Given the description of an element on the screen output the (x, y) to click on. 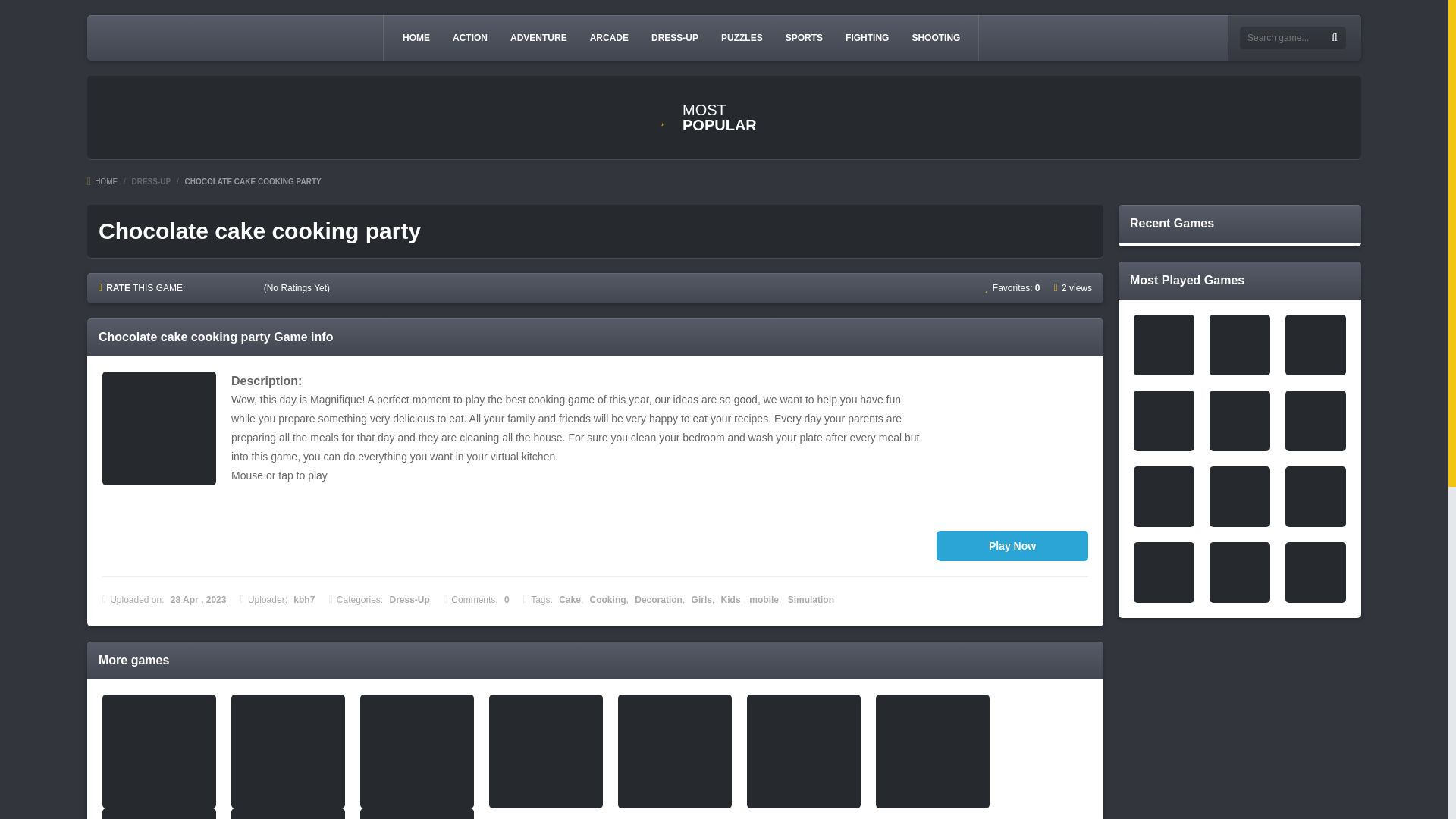
PUZZLES (741, 37)
Cake (569, 599)
HOME (416, 37)
SPORTS (803, 37)
kbh7 (304, 599)
ADVENTURE (538, 37)
DRESS-UP (150, 181)
ACTION (470, 37)
FIGHTING (867, 37)
HOME (102, 181)
